Given the description of an element on the screen output the (x, y) to click on. 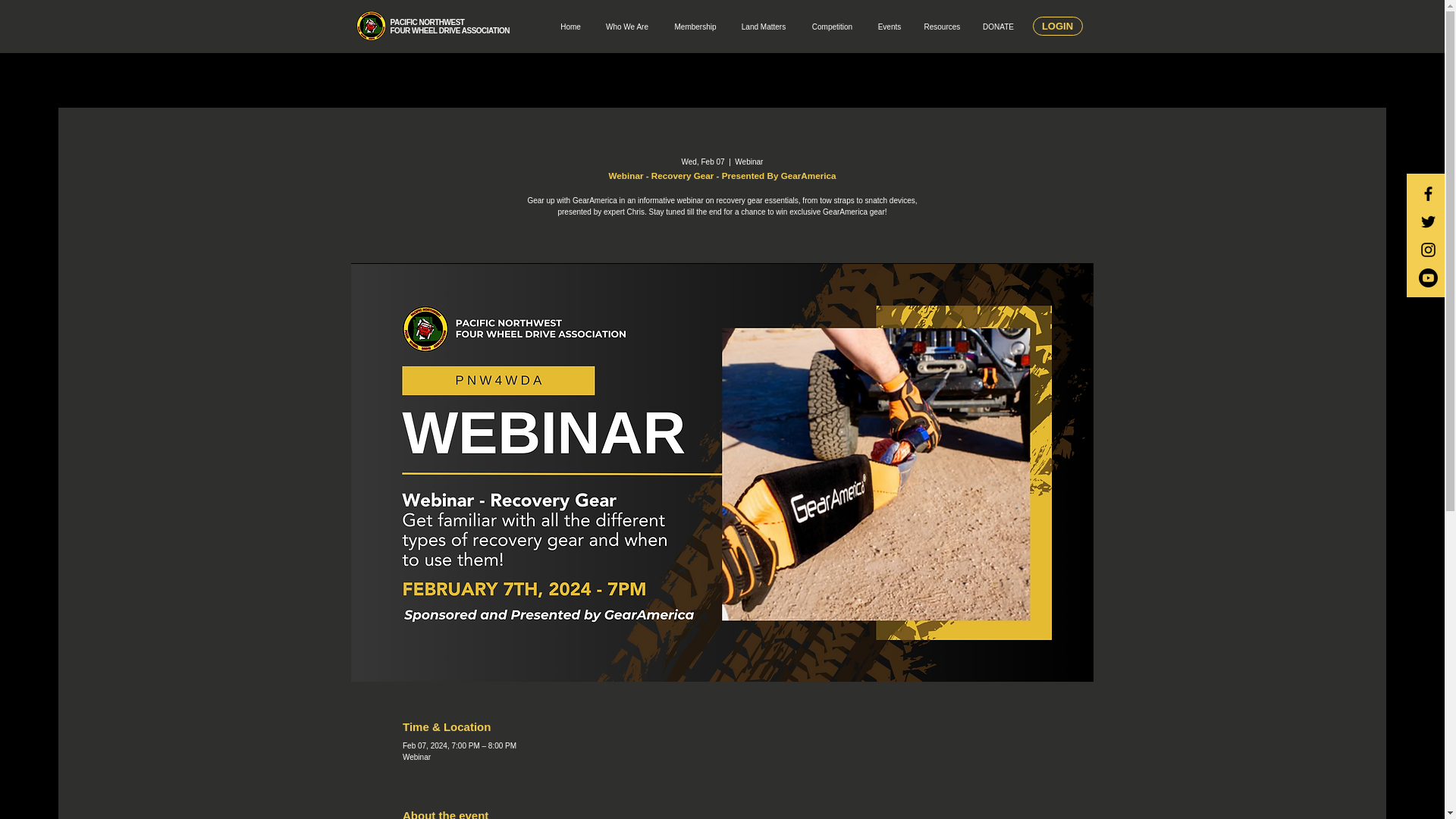
Membership (449, 26)
Resources (695, 26)
LOGIN (941, 26)
Events (1057, 26)
DONATE (889, 26)
Who We Are (998, 26)
Competition (627, 26)
Land Matters (831, 26)
Home (763, 26)
